Given the description of an element on the screen output the (x, y) to click on. 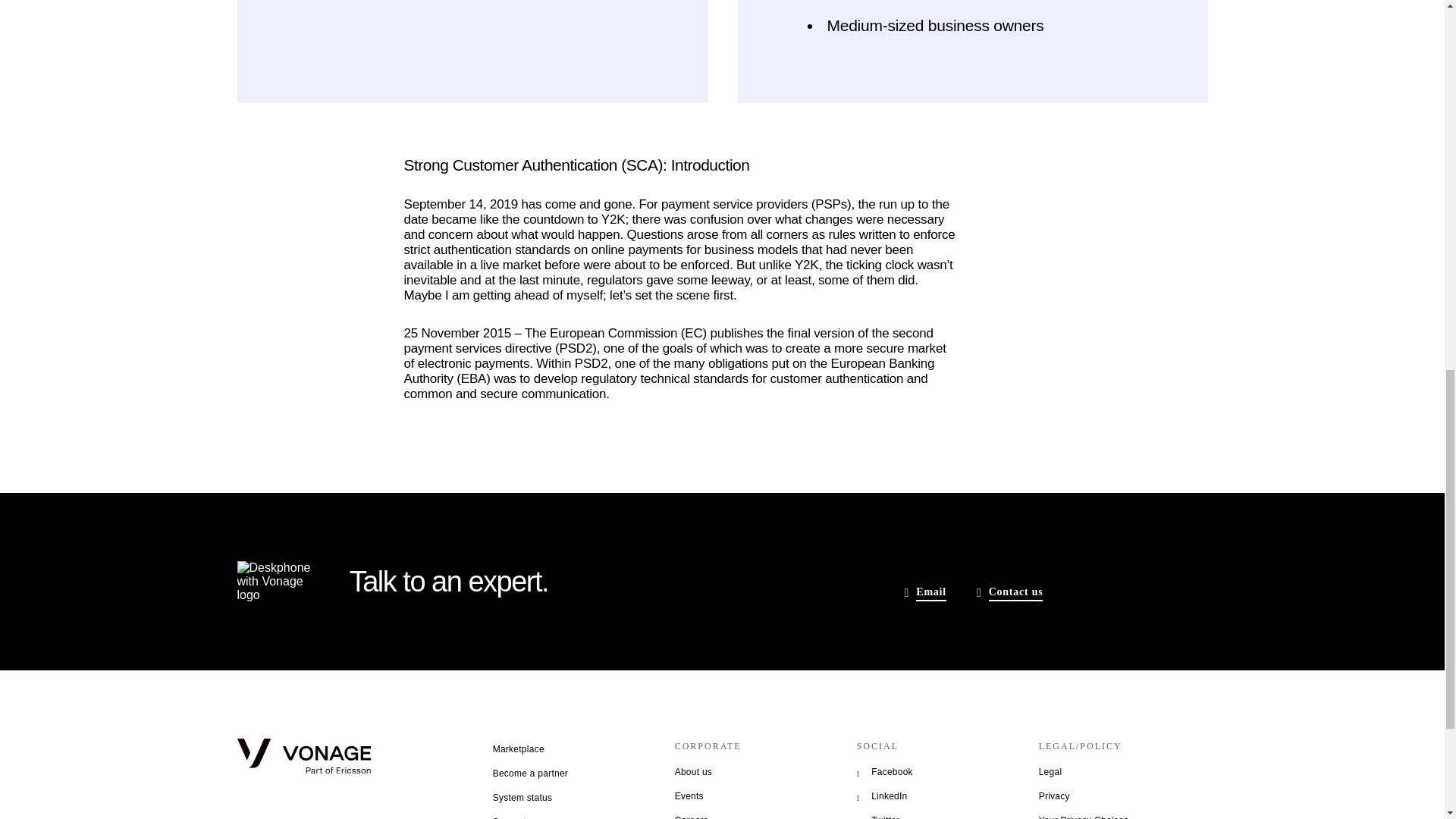
Vonage Phone (273, 581)
